Given the description of an element on the screen output the (x, y) to click on. 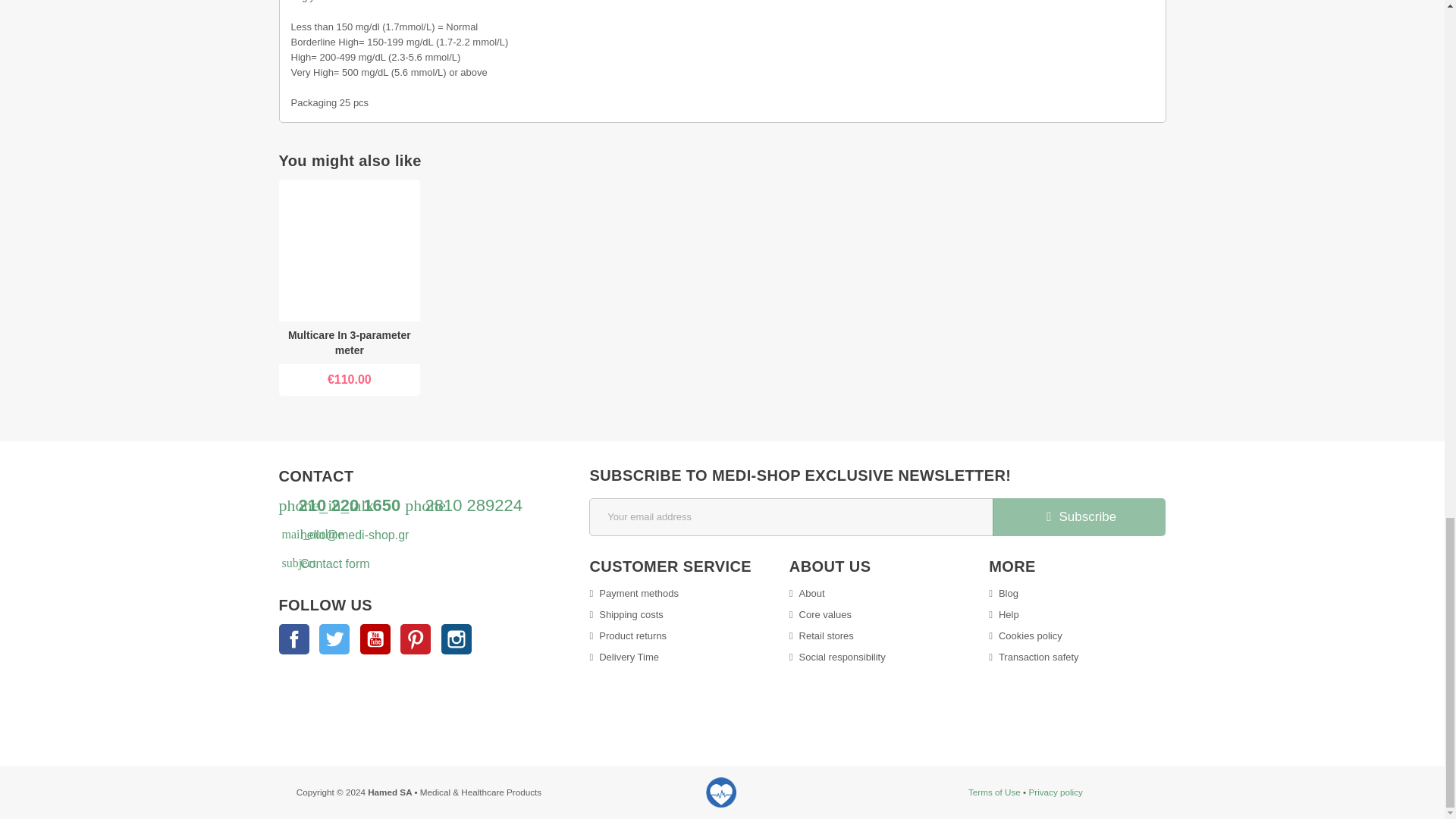
YouTube (374, 639)
Facebook (293, 639)
Pinterest (415, 639)
Instagram (456, 639)
Multicare In 3-parameter meter (349, 250)
Facebook (293, 639)
Product returns (627, 635)
Retail stores (821, 635)
Multicare In 3-parameter meter (349, 342)
Twitter (333, 639)
